Given the description of an element on the screen output the (x, y) to click on. 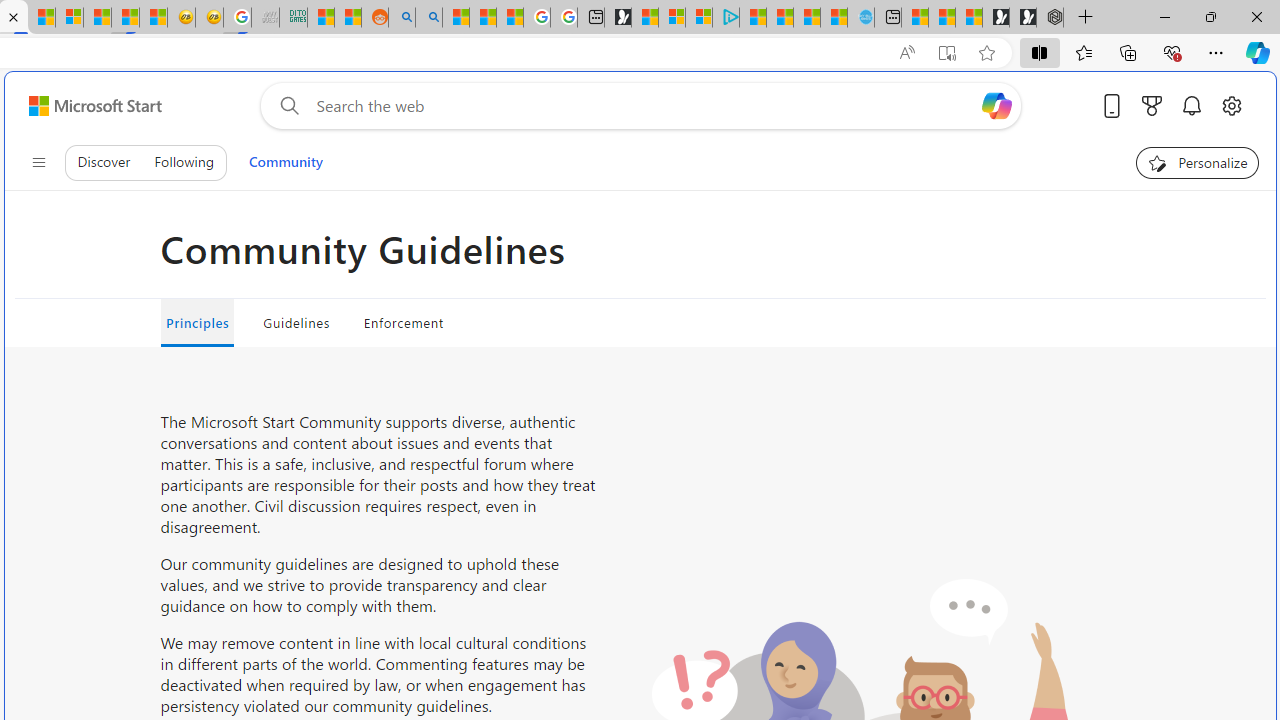
Principles (197, 322)
DITOGAMES AG Imprint (293, 17)
Play Free Online Games | Games from Microsoft Start (1022, 17)
Class: control icon-only (38, 162)
Guidelines (296, 322)
